Given the description of an element on the screen output the (x, y) to click on. 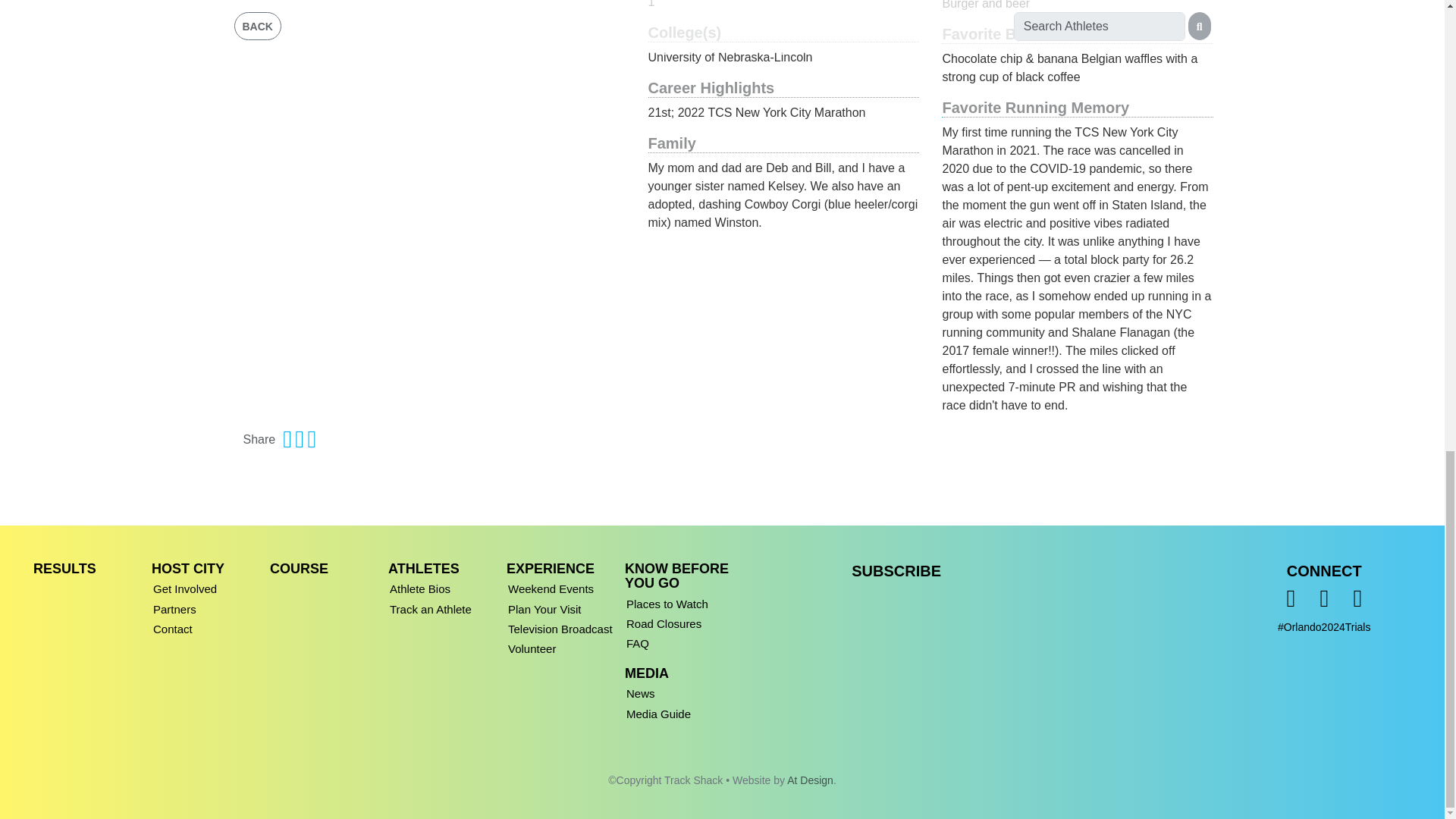
COURSE (299, 568)
Contact (207, 626)
Partners (207, 606)
ATHLETES (424, 568)
RESULTS (64, 568)
HOST CITY (187, 568)
Get Involved (207, 586)
